Given the description of an element on the screen output the (x, y) to click on. 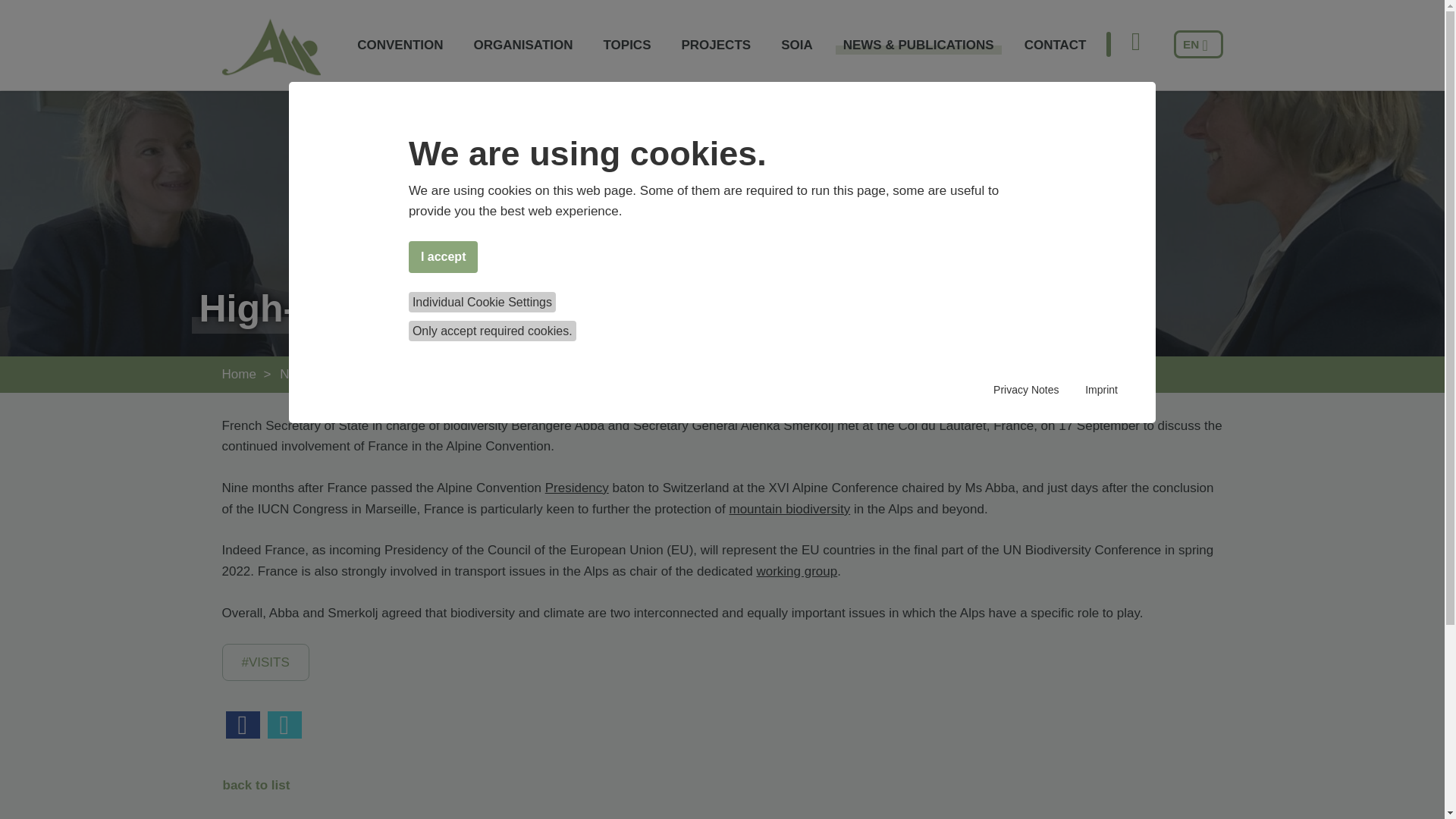
Individual Cookie Settings (482, 301)
Only accept required cookies. (492, 331)
Home (238, 373)
News (438, 373)
Imprint (1101, 389)
I accept (444, 256)
Privacy Notes (1025, 389)
Share on Facebook (242, 724)
Tweet (283, 724)
